Given the description of an element on the screen output the (x, y) to click on. 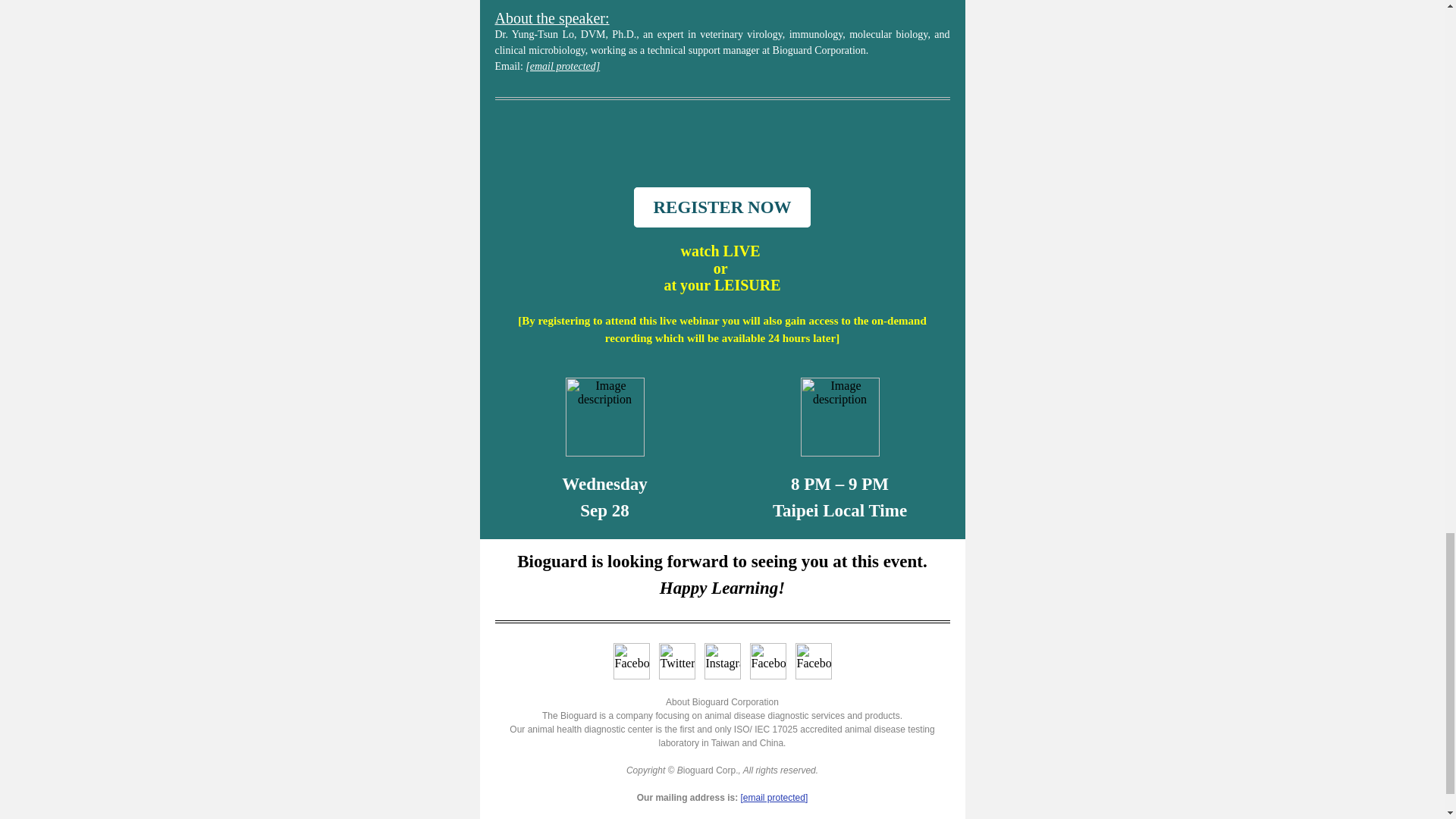
REGISTER NOW (721, 207)
